Given the description of an element on the screen output the (x, y) to click on. 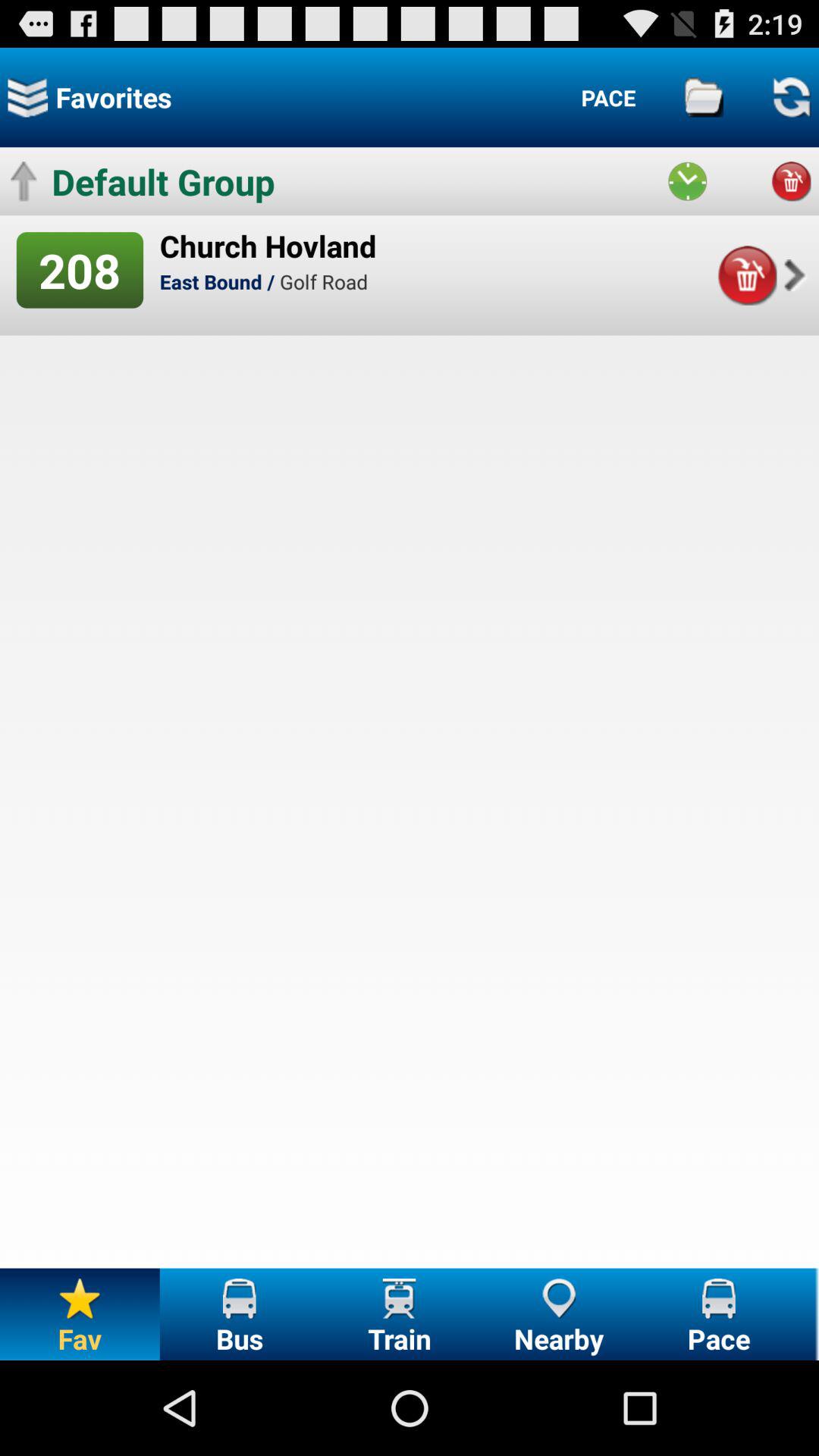
check time (687, 181)
